Given the description of an element on the screen output the (x, y) to click on. 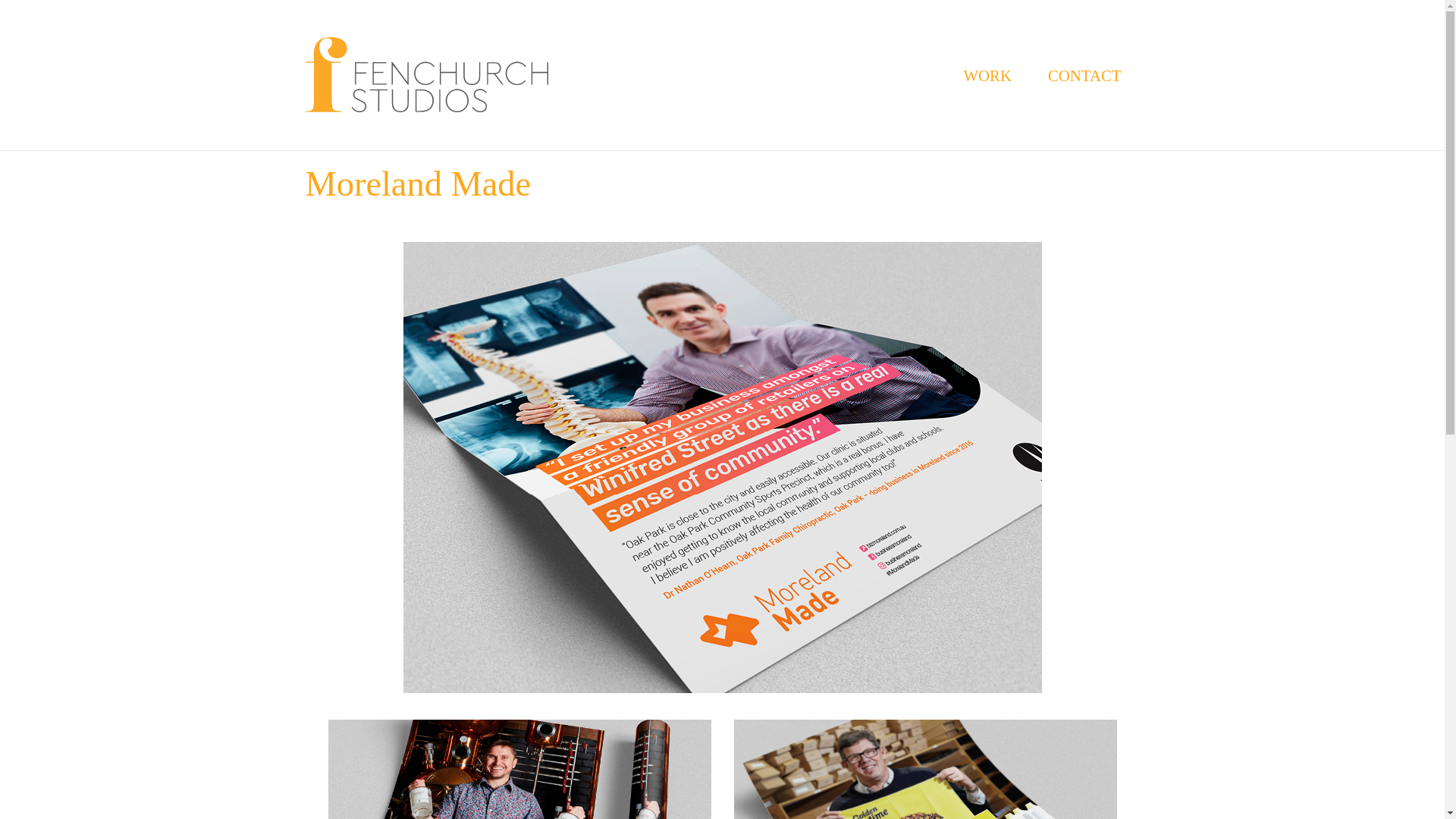
CONTACT Element type: text (1084, 75)
WORK Element type: text (986, 75)
